Given the description of an element on the screen output the (x, y) to click on. 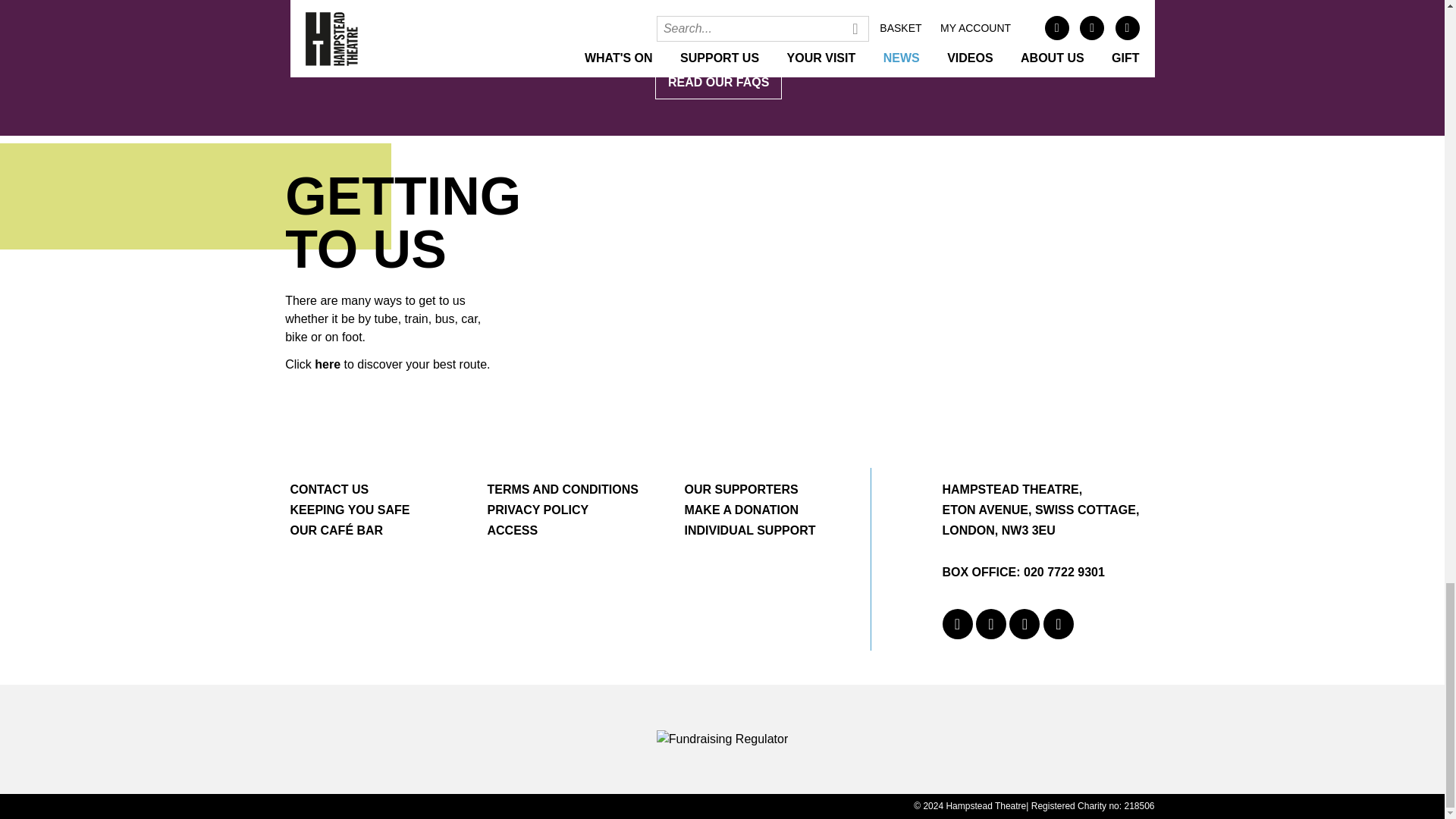
READ OUR FAQS (722, 82)
KEEPING YOU SAFE (349, 509)
here (327, 364)
CONTACT US (328, 489)
PRIVACY POLICY (537, 509)
TERMS AND CONDITIONS (561, 489)
